Given the description of an element on the screen output the (x, y) to click on. 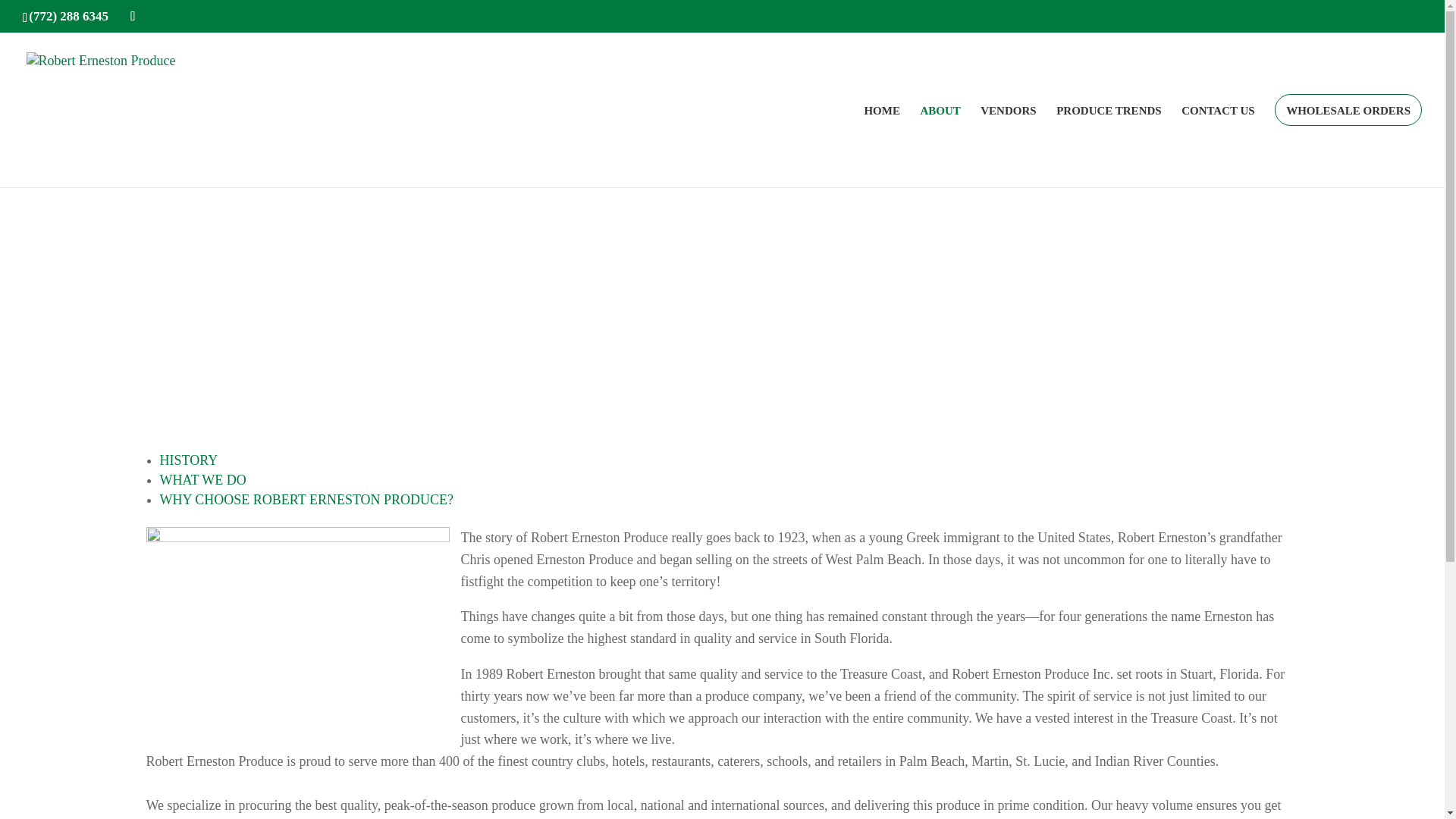
WHAT WE DO (202, 479)
ABOUT (939, 146)
VENDORS (1007, 146)
WHOLESALE ORDERS (1347, 146)
PRODUCE TRENDS (1109, 146)
HISTORY (187, 459)
WHY CHOOSE ROBERT ERNESTON PRODUCE? (305, 499)
CONTACT US (1217, 146)
HOME (881, 146)
